Given the description of an element on the screen output the (x, y) to click on. 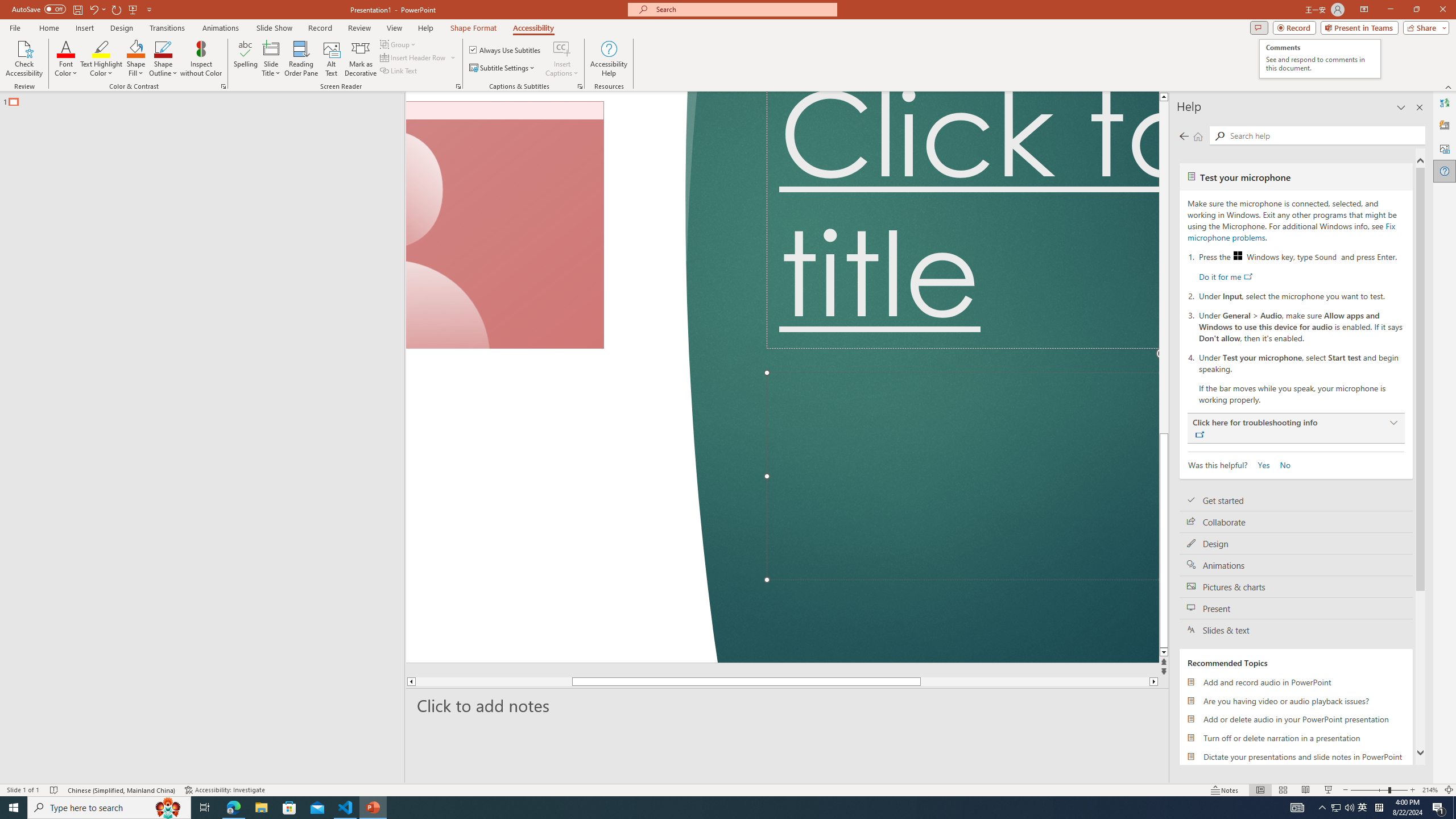
Insert (83, 28)
Microsoft search (742, 9)
Comments (1259, 27)
Line up (1319, 58)
Always Use Subtitles (1245, 96)
Save (505, 49)
Home (77, 9)
Test your microphone (48, 28)
Insert Captions (1296, 176)
Shape Fill (561, 48)
Zoom 214% (135, 58)
Group (1430, 790)
